Given the description of an element on the screen output the (x, y) to click on. 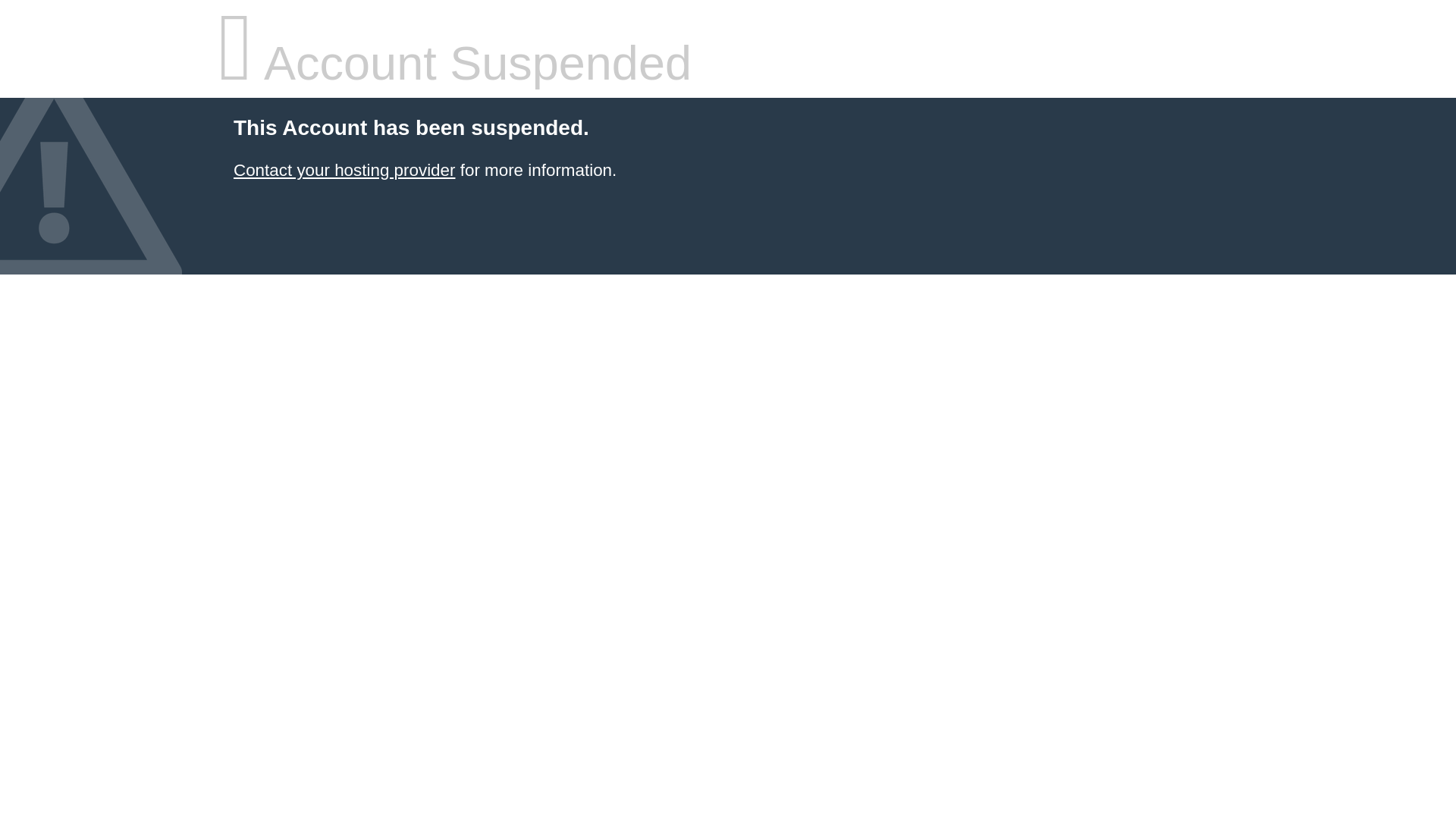
Contact your hosting provider (343, 169)
